Given the description of an element on the screen output the (x, y) to click on. 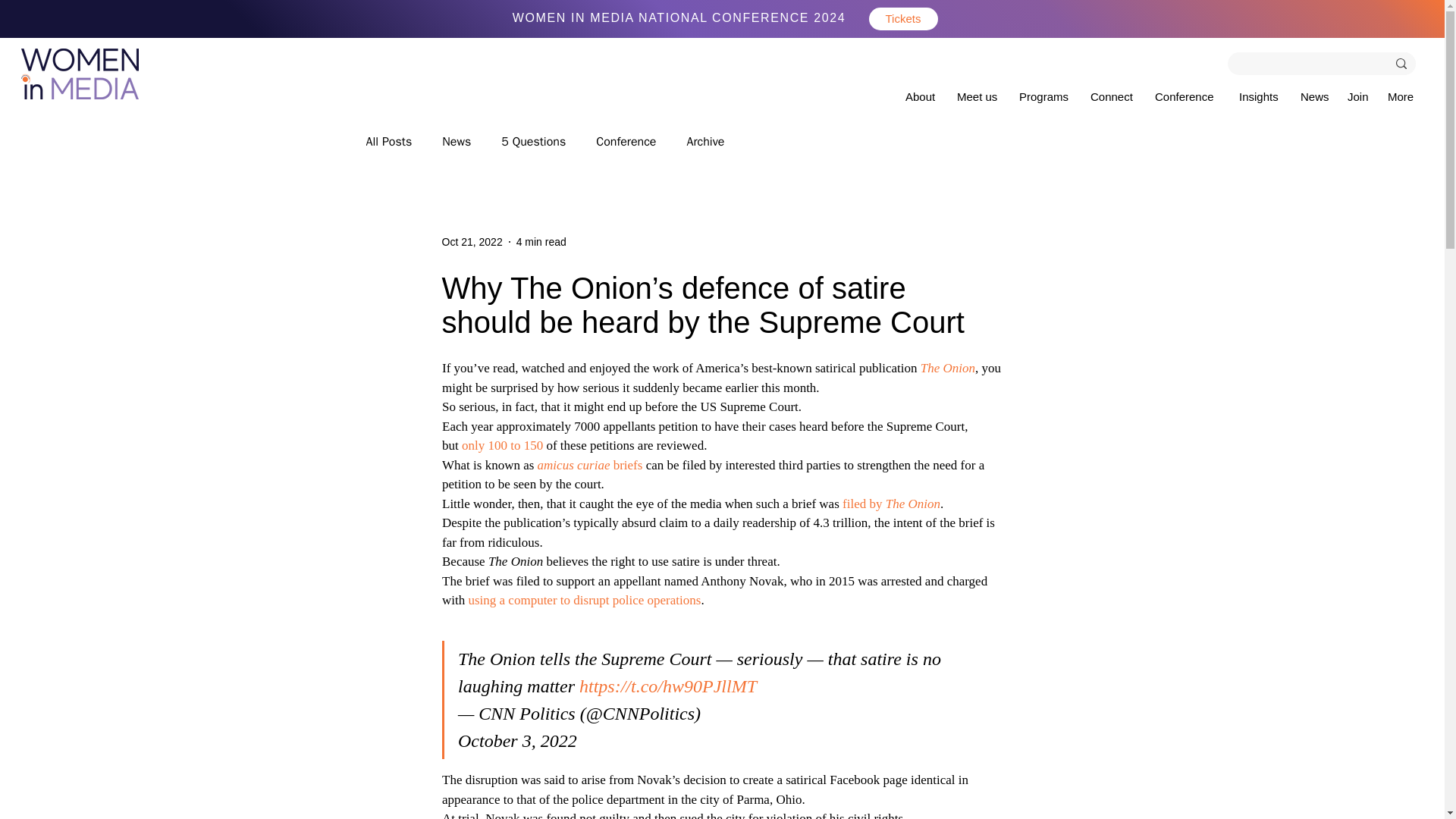
5 Questions (533, 141)
News (456, 141)
Archive (704, 141)
amicus curiae (573, 464)
Programs (1047, 94)
About (923, 94)
News (1315, 94)
Oct 21, 2022 (471, 241)
using a computer to disrupt police operations (583, 599)
Conference (625, 141)
Conference (1189, 94)
4 min read (541, 241)
 briefs (626, 464)
Join (1359, 94)
All Posts (388, 141)
